Given the description of an element on the screen output the (x, y) to click on. 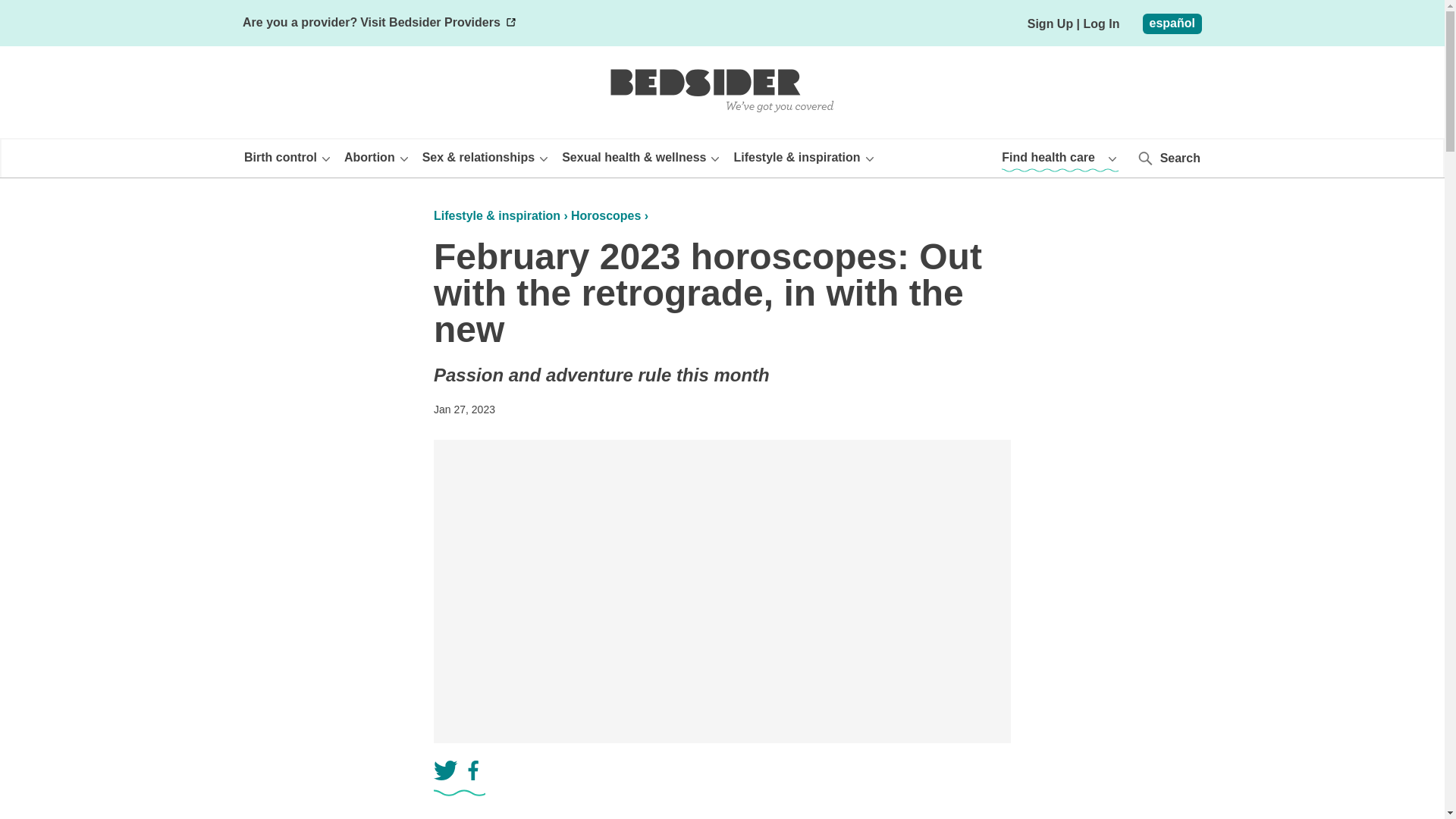
Abortion (376, 156)
Birth control (287, 156)
